Given the description of an element on the screen output the (x, y) to click on. 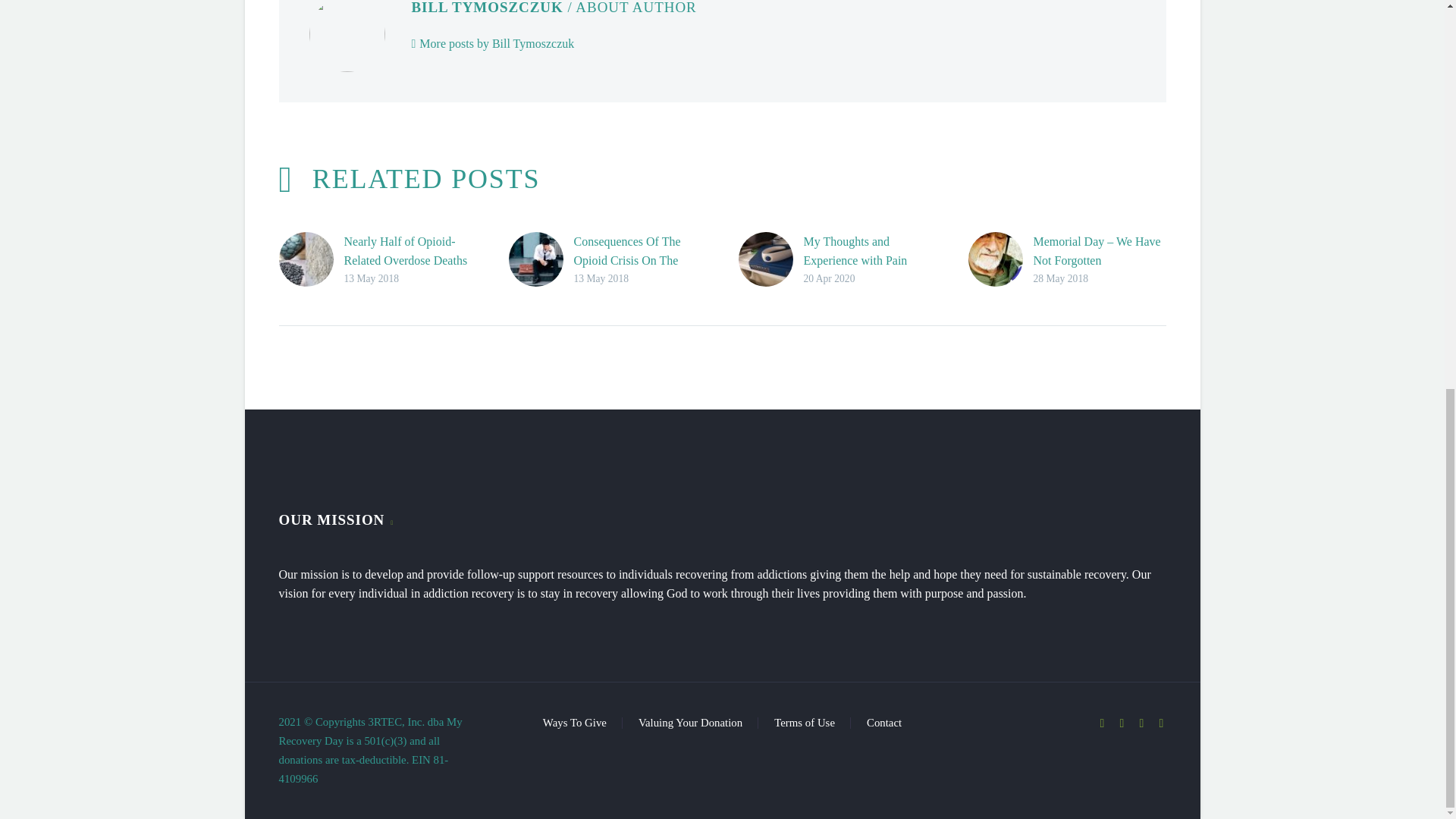
YouTube (1161, 723)
Facebook (1102, 723)
Twitter (1122, 723)
Instagram (1141, 723)
